Given the description of an element on the screen output the (x, y) to click on. 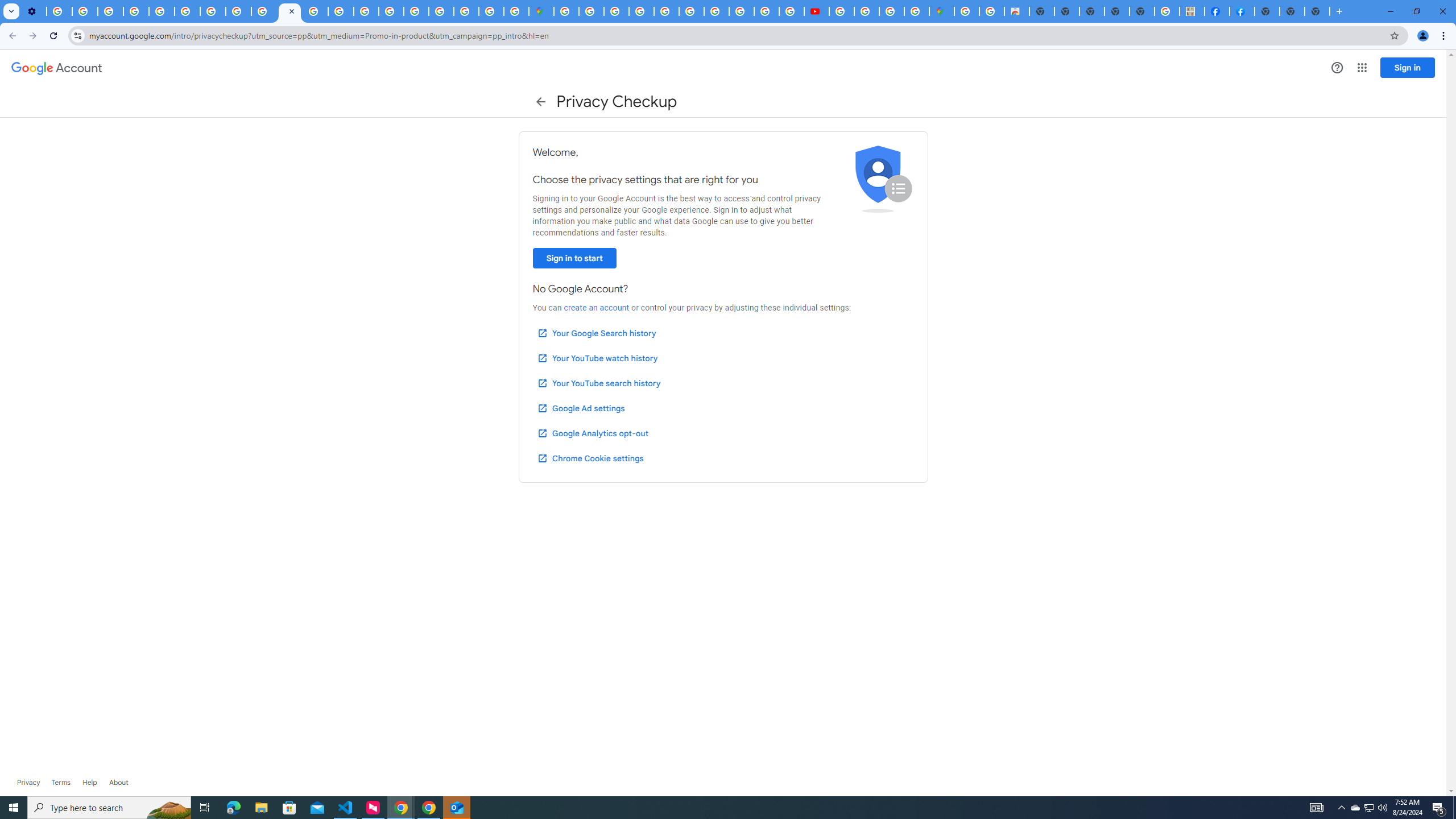
Learn how to find your photos - Google Photos Help (84, 11)
Your YouTube watch history (597, 358)
Your YouTube search history (598, 383)
Sign in - Google Accounts (590, 11)
Privacy Checkup (264, 11)
Google Maps (541, 11)
Learn more about Google Account (118, 782)
create an account (595, 307)
Your Google Search history (596, 332)
